Given the description of an element on the screen output the (x, y) to click on. 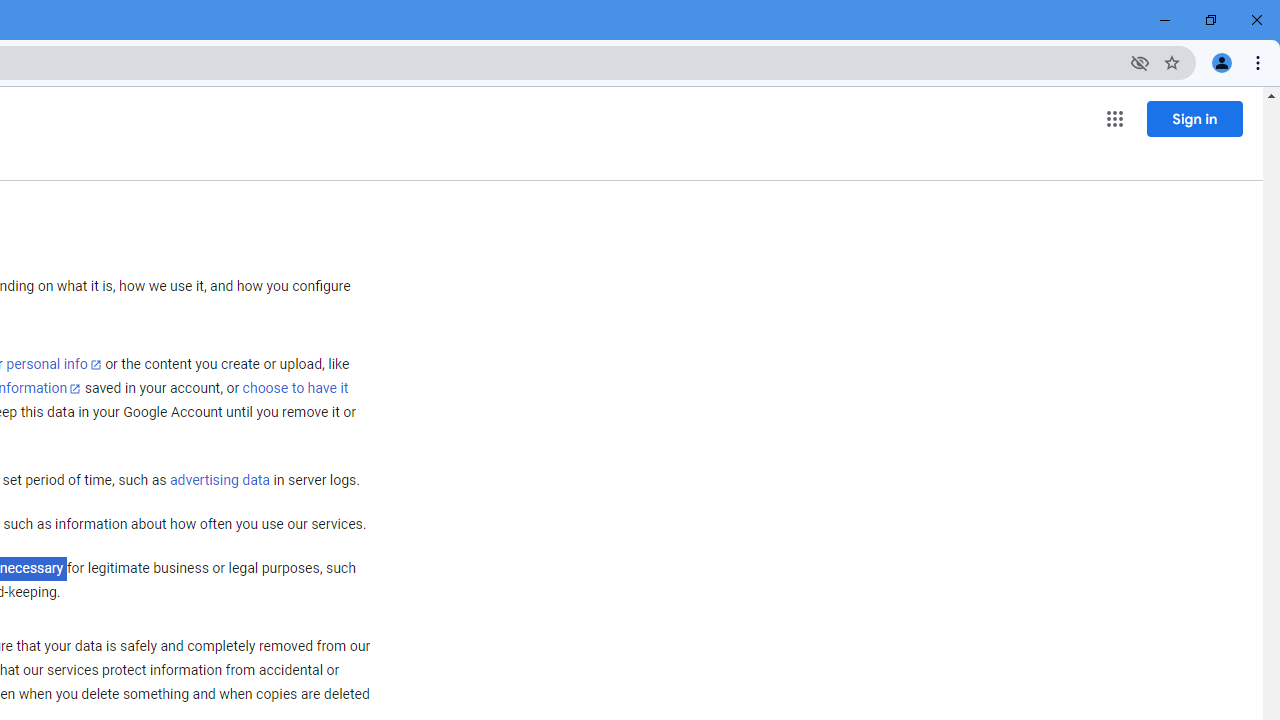
advertising data (219, 481)
personal info (54, 364)
